Given the description of an element on the screen output the (x, y) to click on. 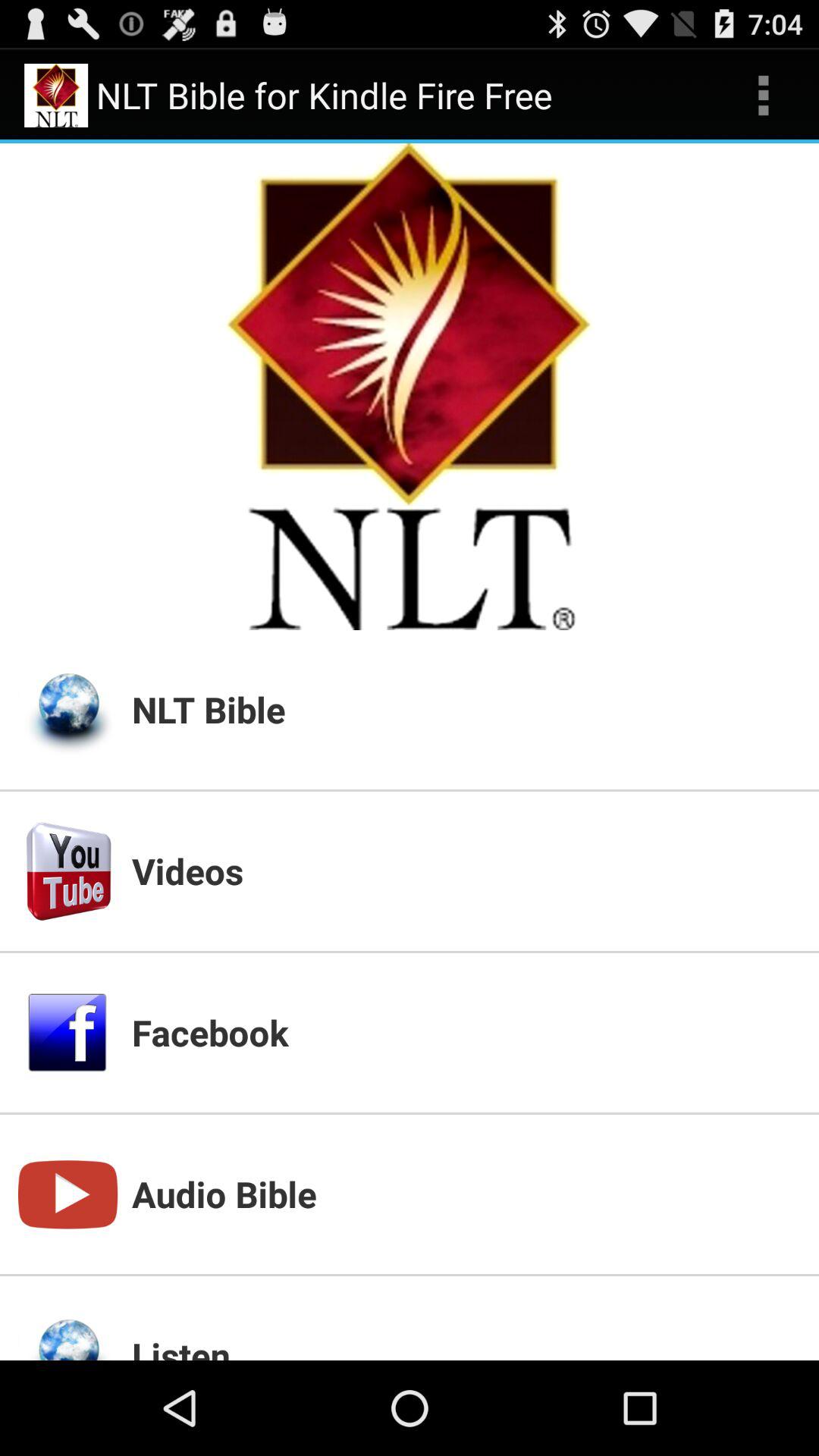
choose item at the top right corner (763, 95)
